Given the description of an element on the screen output the (x, y) to click on. 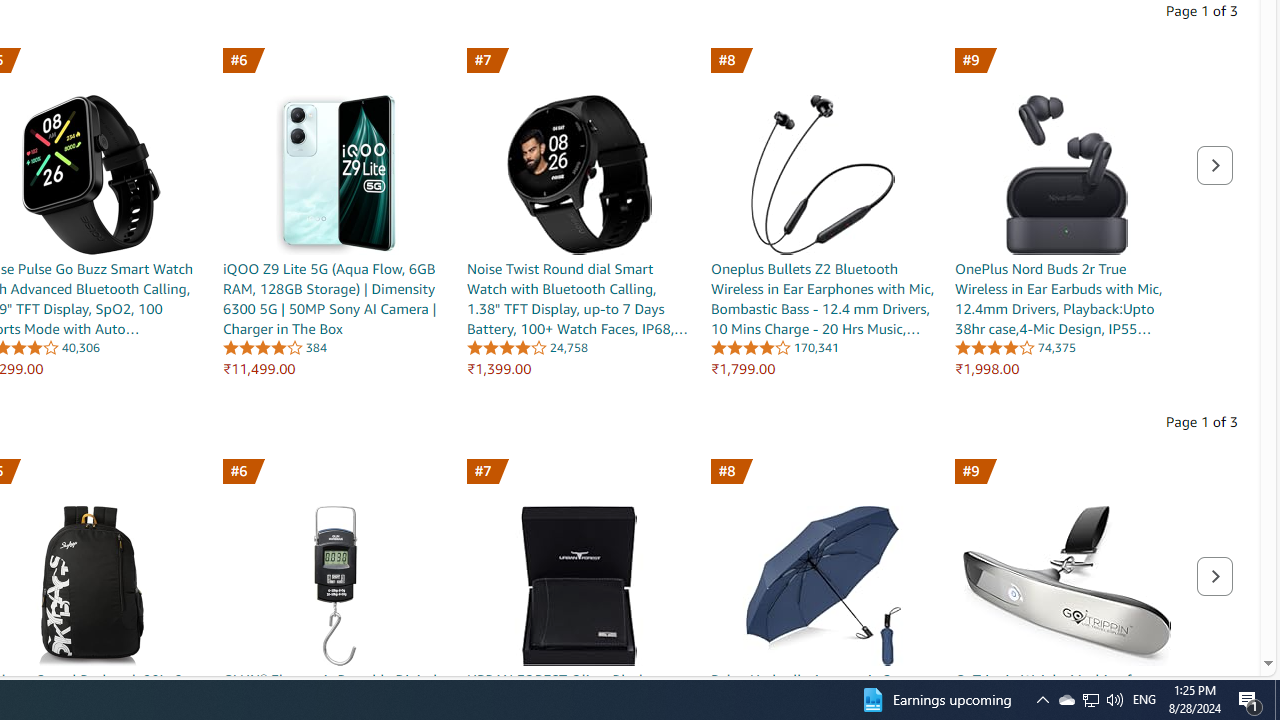
Class: a-link-normal (579, 689)
